Given the description of an element on the screen output the (x, y) to click on. 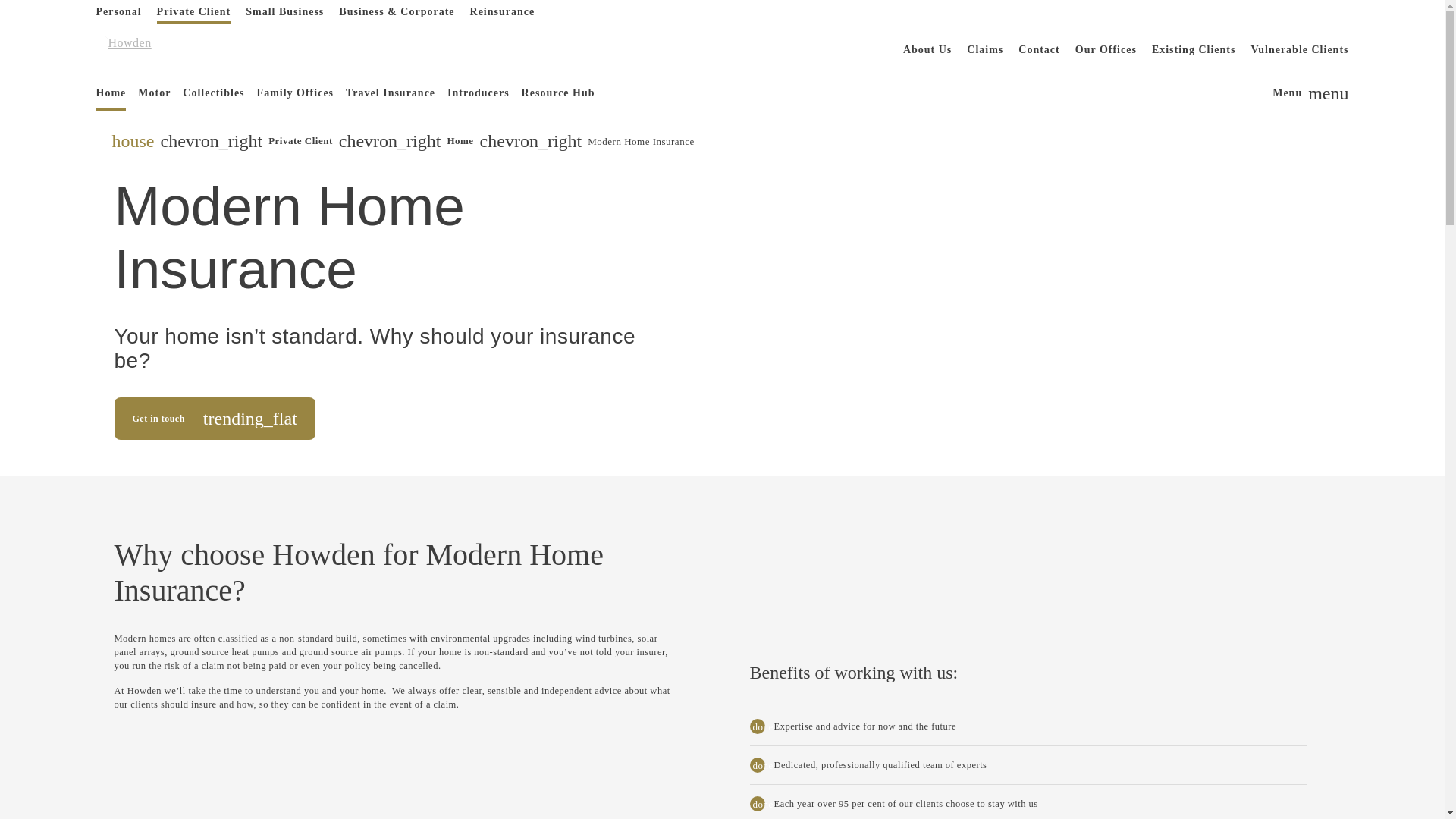
Existing Clients (1193, 50)
Private Client (194, 12)
Reinsurance (502, 12)
Reinsurance (502, 12)
Claims (984, 50)
Family Offices (294, 93)
Resource Hub (1310, 93)
Go To Homepage (555, 92)
Our Offices (159, 49)
Small Business (1105, 50)
Home (285, 12)
Personal (114, 93)
Introducers (121, 12)
Resource Hub (478, 93)
